Given the description of an element on the screen output the (x, y) to click on. 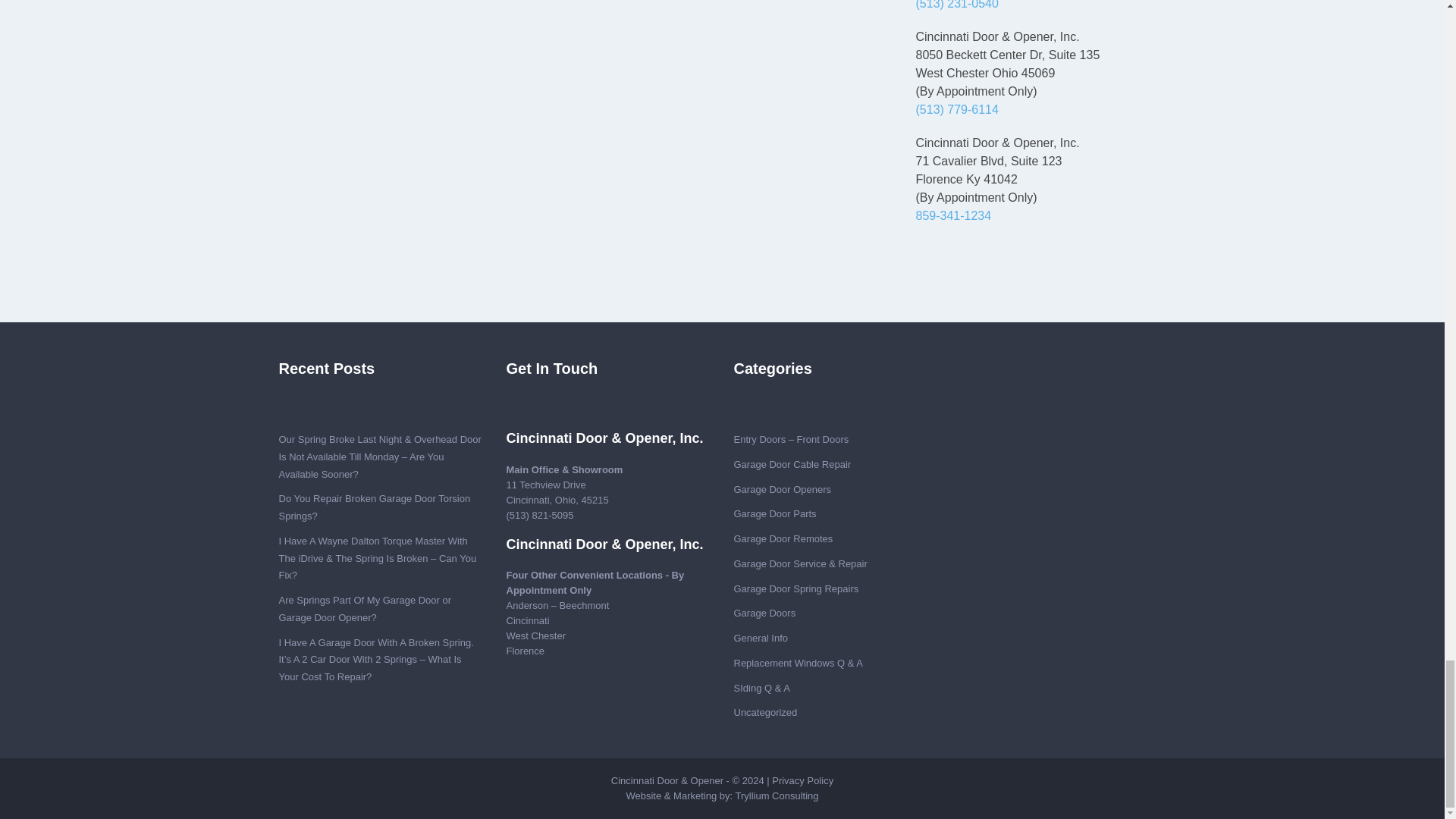
footer-image (307, 411)
footer-image (534, 411)
footer-image (761, 411)
